Given the description of an element on the screen output the (x, y) to click on. 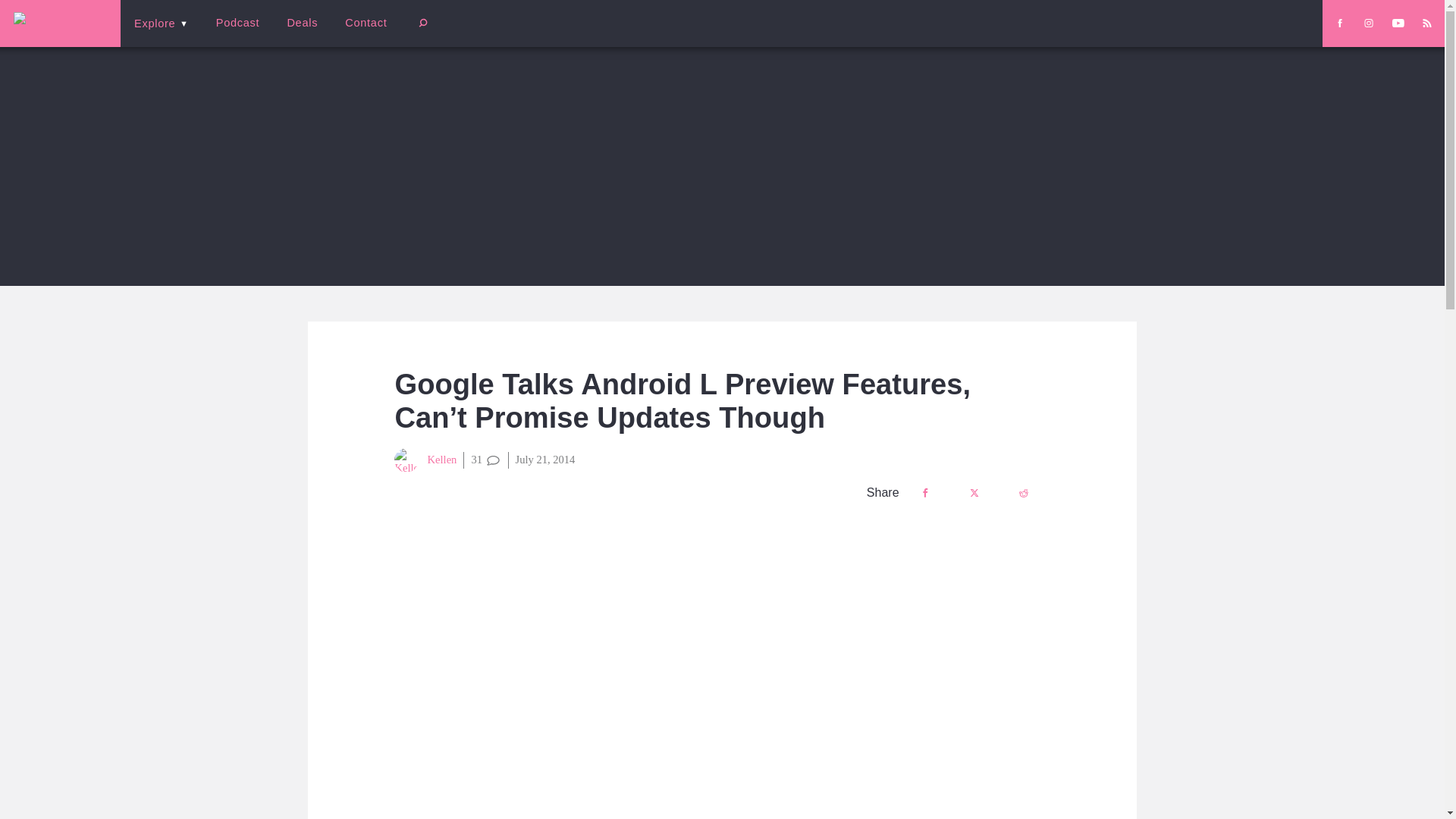
Droid Life on Instagram (1368, 23)
Podcast (237, 23)
Droid Life on YouTube (1398, 23)
Deals (302, 23)
Droid Life on Facebook (1339, 23)
Beginners' Guide (360, 33)
Kellen (425, 459)
Explore (161, 23)
Droid Life RSS (1426, 23)
Contact (365, 23)
